Given the description of an element on the screen output the (x, y) to click on. 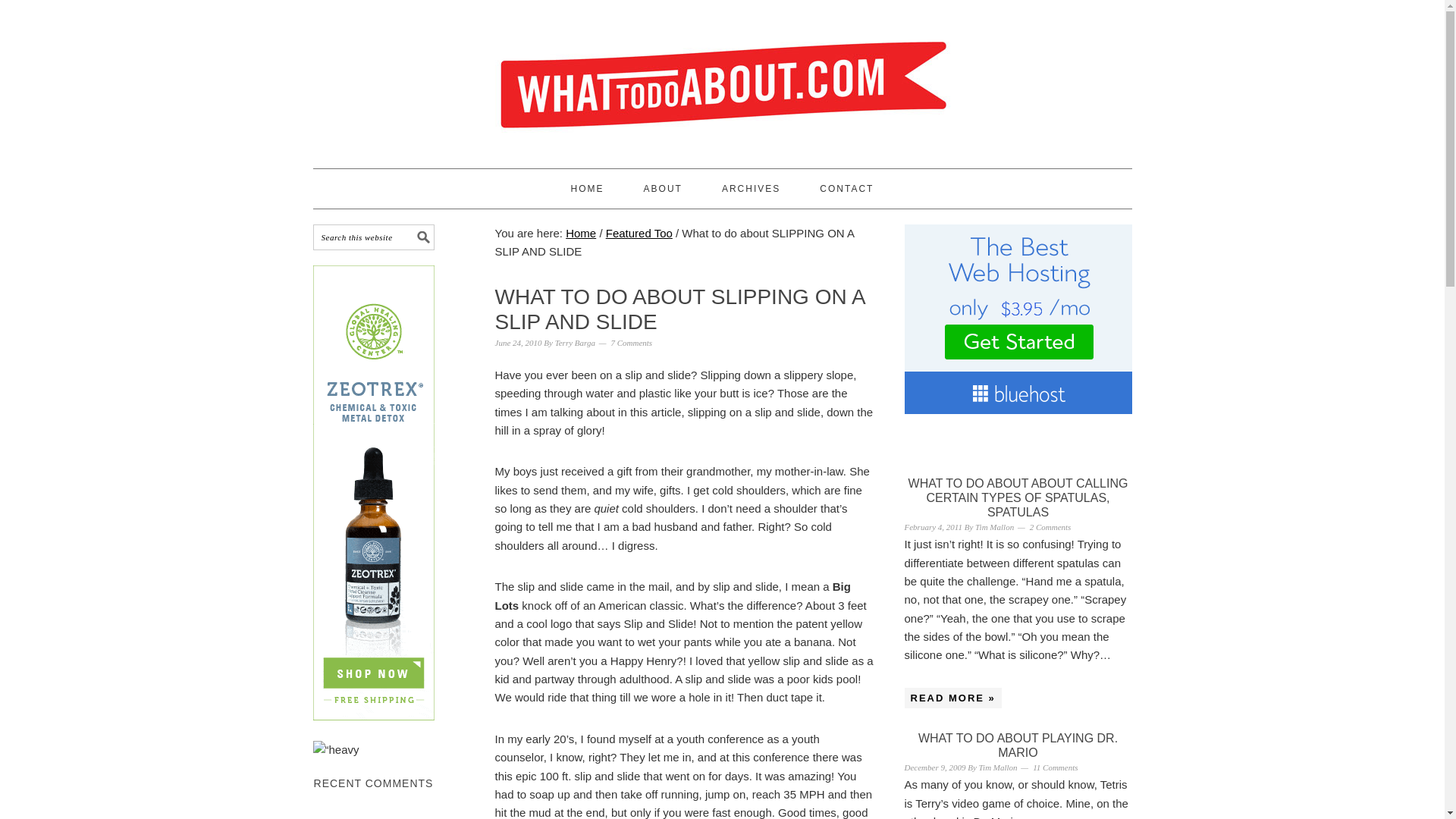
WHAT TO DO ABOUT PLAYING DR. MARIO (1018, 745)
11 Comments (1054, 767)
2 Comments (1050, 526)
ABOUT (662, 188)
Home (580, 232)
7 Comments (631, 342)
Terry Barga (574, 342)
HOME (587, 188)
Tim Mallon (997, 767)
Tim Mallon (994, 526)
CONTACT (846, 188)
WHATTODOABOUT.COM (722, 77)
ARCHIVES (751, 188)
